Given the description of an element on the screen output the (x, y) to click on. 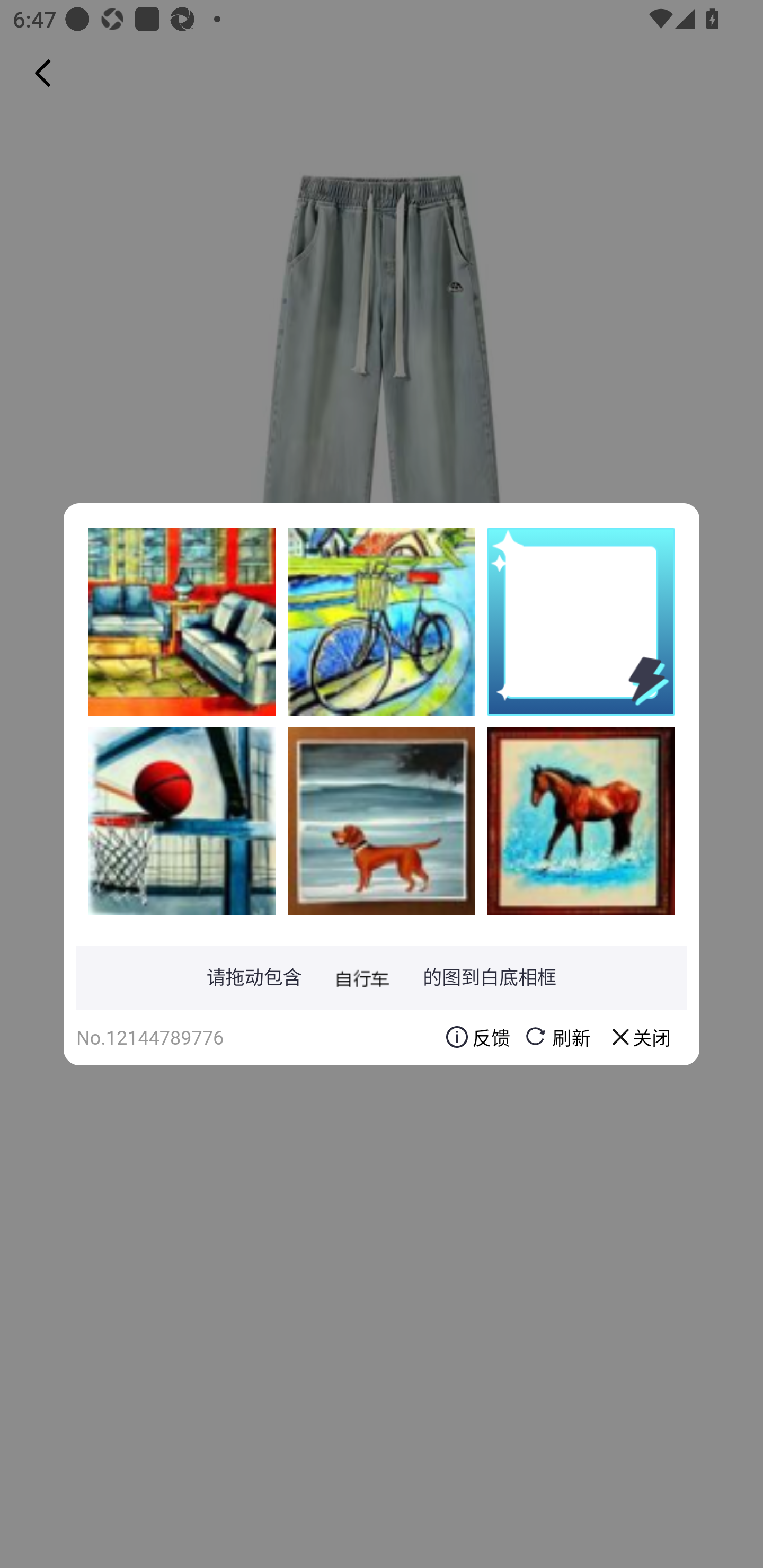
97+8av (181, 820)
